Given the description of an element on the screen output the (x, y) to click on. 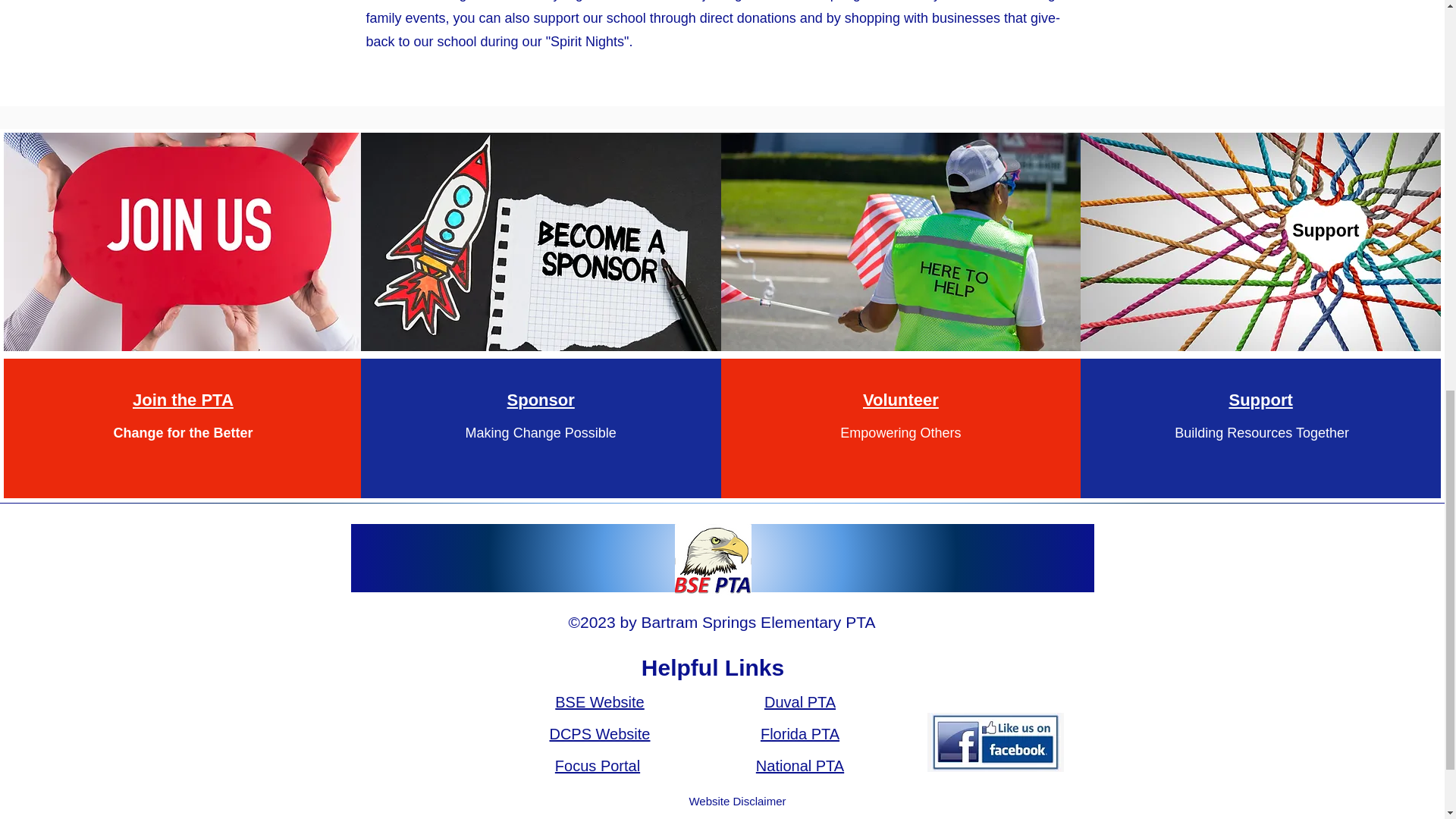
Support (1260, 398)
BSE Website (598, 701)
Volunteer (901, 398)
Duval PTA (799, 701)
DCPS Website (598, 733)
Florida PTA (800, 733)
Join the PTA (182, 398)
Sponsor (540, 398)
National PTA (799, 765)
Focus Portal (597, 765)
